Given the description of an element on the screen output the (x, y) to click on. 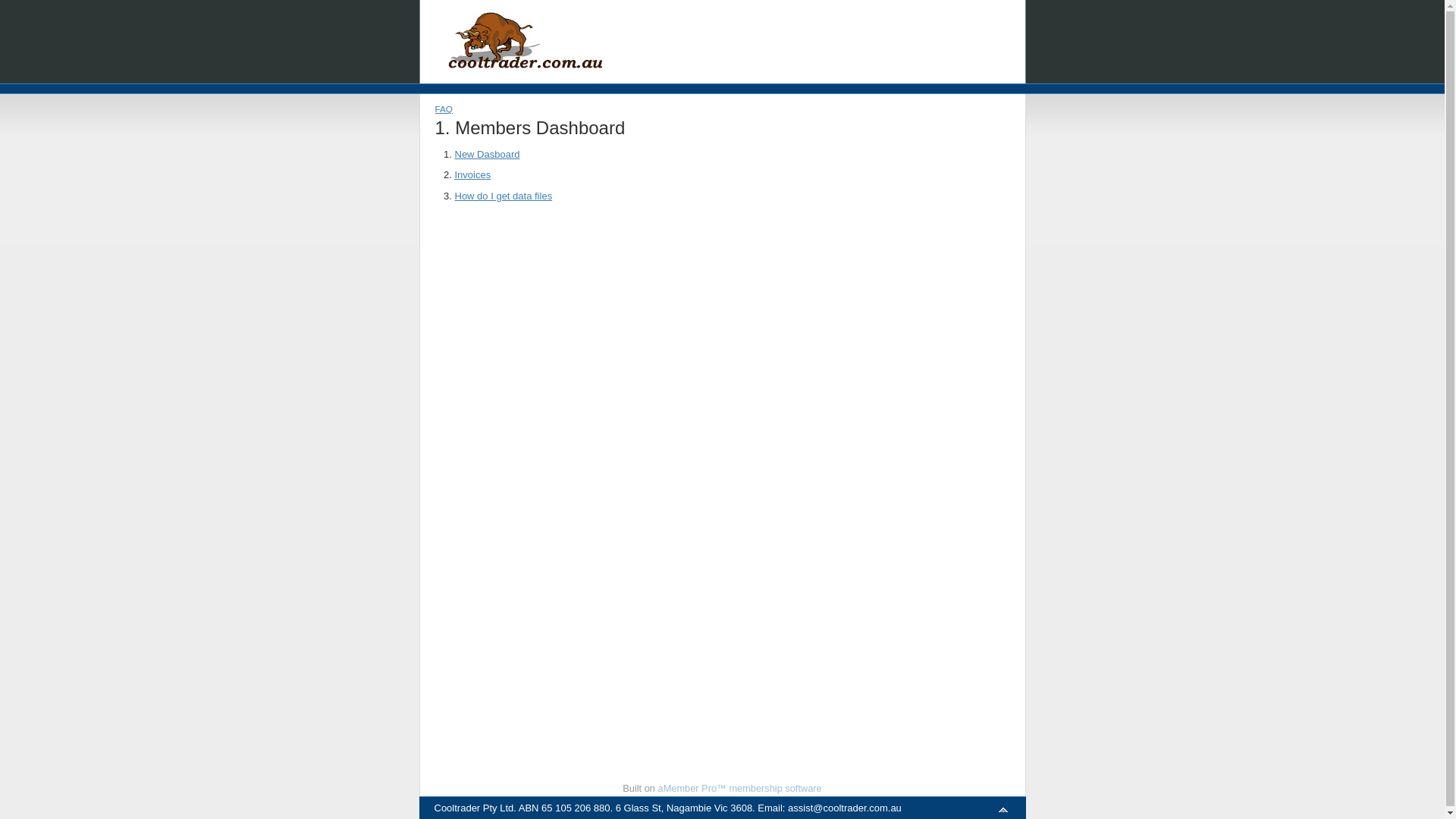
FAQ Element type: text (443, 108)
How do I get data files Element type: text (503, 195)
Invoices Element type: text (473, 174)
New Dasboard Element type: text (487, 154)
